Given the description of an element on the screen output the (x, y) to click on. 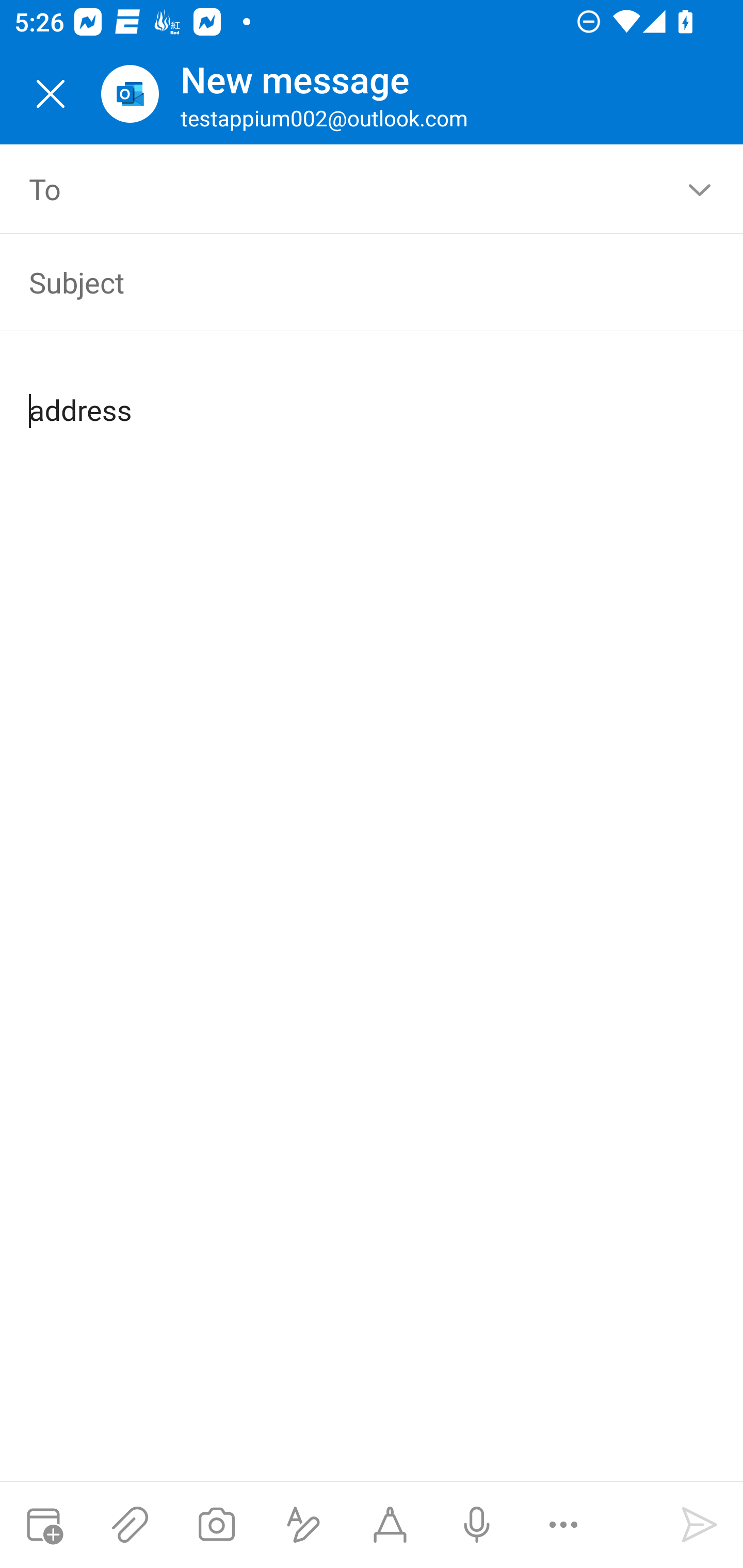
Close (50, 93)
Subject (342, 281)

address (372, 394)
Attach meeting (43, 1524)
Attach files (129, 1524)
Take a photo (216, 1524)
Show formatting options (303, 1524)
Start Ink compose (389, 1524)
Dictation (476, 1524)
More options (563, 1524)
Send (699, 1524)
